Given the description of an element on the screen output the (x, y) to click on. 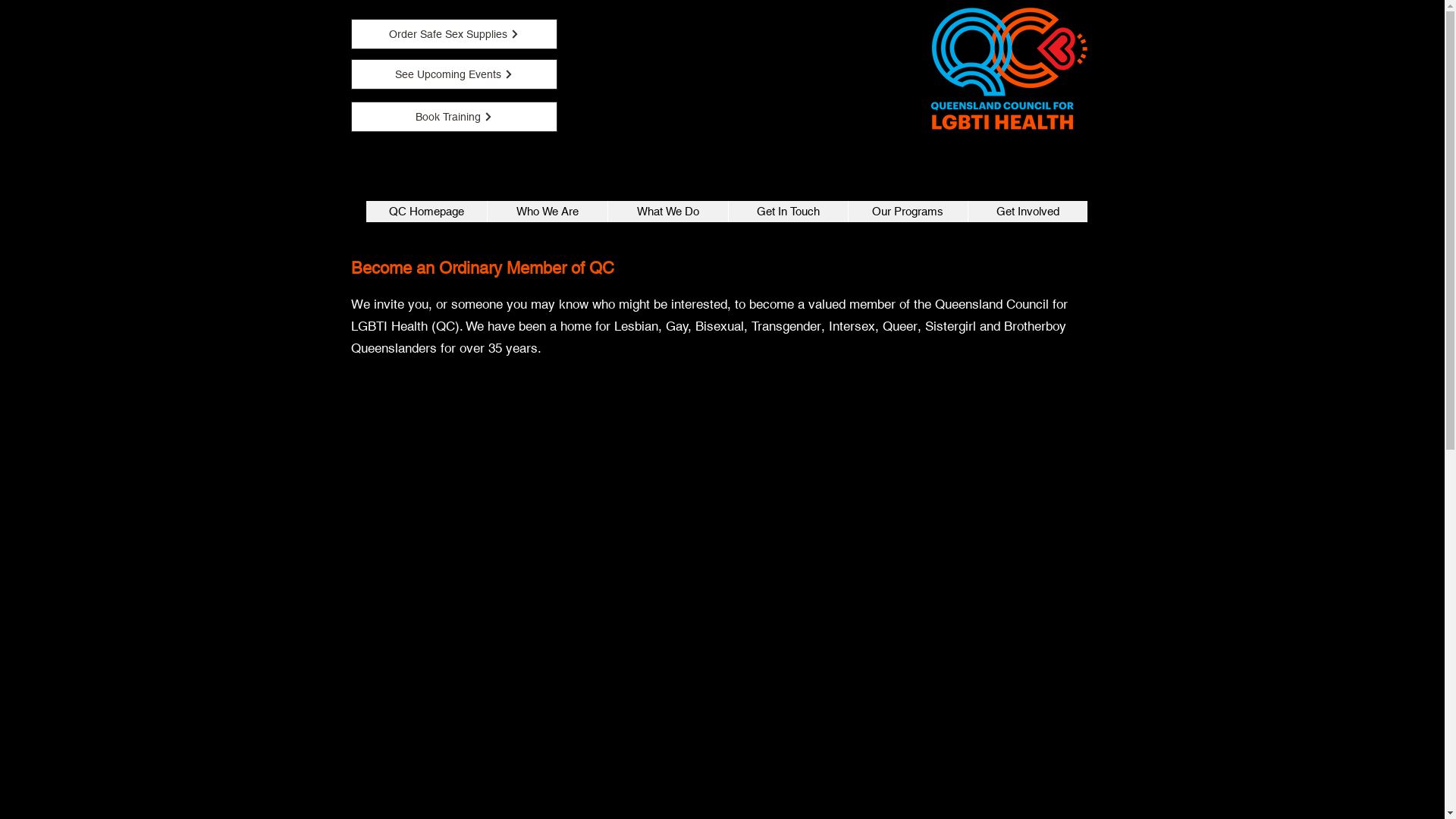
Our Programs Element type: text (907, 211)
Book Training Element type: text (453, 116)
See Upcoming Events Element type: text (453, 74)
Order Safe Sex Supplies Element type: text (453, 33)
QC Homepage Element type: text (425, 211)
